Given the description of an element on the screen output the (x, y) to click on. 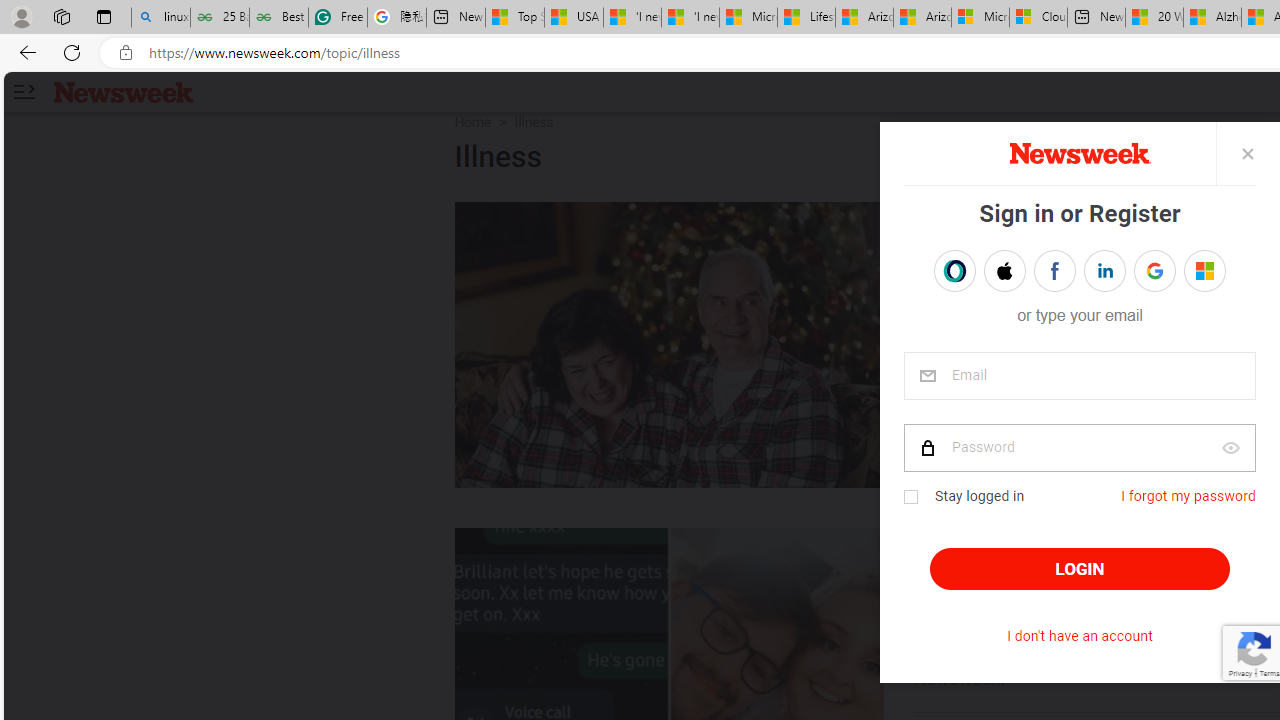
USA TODAY - MSN (573, 17)
Sign in with LINKEDIN (1104, 270)
I don't have an account (1079, 636)
I forgot my password (1187, 496)
linux basic - Search (160, 17)
Sign in with FACEBOOK (1054, 270)
Cloud Computing Services | Microsoft Azure (1038, 17)
